Given the description of an element on the screen output the (x, y) to click on. 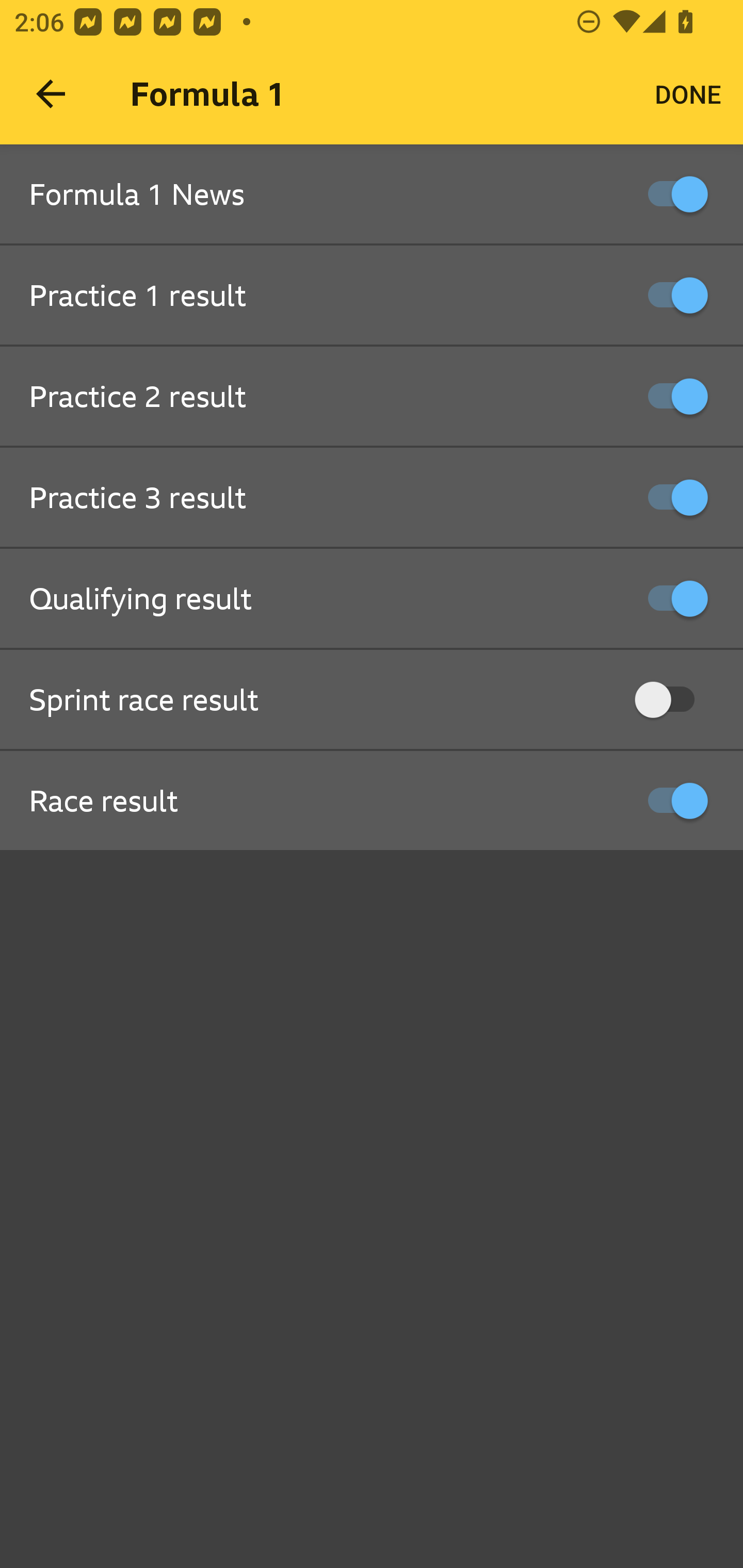
Navigate up (50, 93)
DONE (688, 93)
Formula 1 News, ON, Switch Formula 1 News (371, 195)
Practice 1 result, ON, Switch Practice 1 result (371, 296)
Practice 2 result, ON, Switch Practice 2 result (371, 397)
Practice 3 result, ON, Switch Practice 3 result (371, 498)
Qualifying result, ON, Switch Qualifying result (371, 598)
Sprint race result, ON, Switch Sprint race result (371, 700)
Race result, ON, Switch Race result (371, 801)
